Given the description of an element on the screen output the (x, y) to click on. 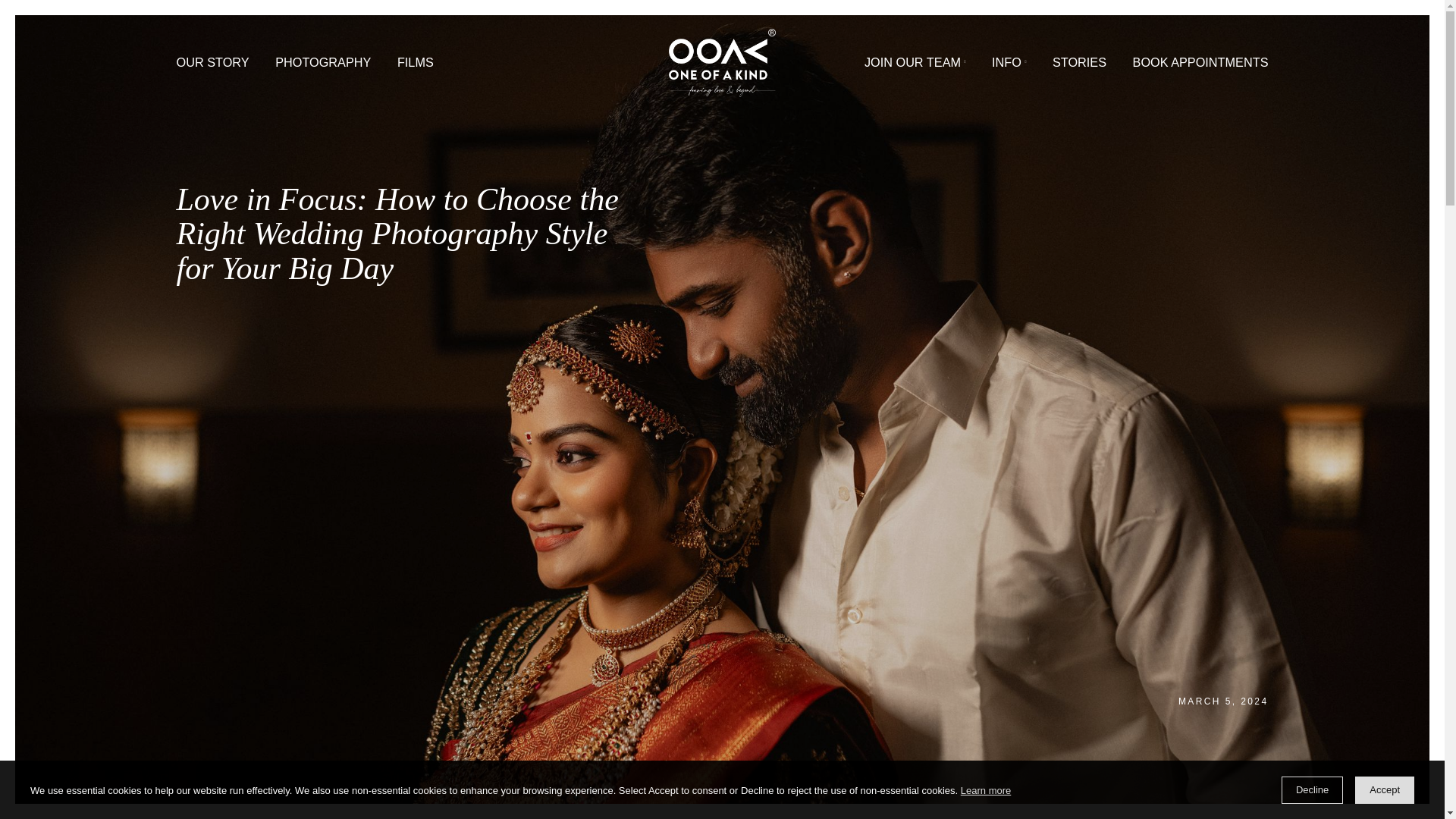
Decline (1311, 789)
FILMS (461, 69)
JOIN OUR TEAM (1015, 69)
Learn more (985, 791)
Accept (1384, 789)
INFO (1120, 69)
PHOTOGRAPHY (358, 69)
OUR STORY (235, 69)
BOOK APPOINTMENTS (1333, 69)
STORIES (1198, 69)
